Given the description of an element on the screen output the (x, y) to click on. 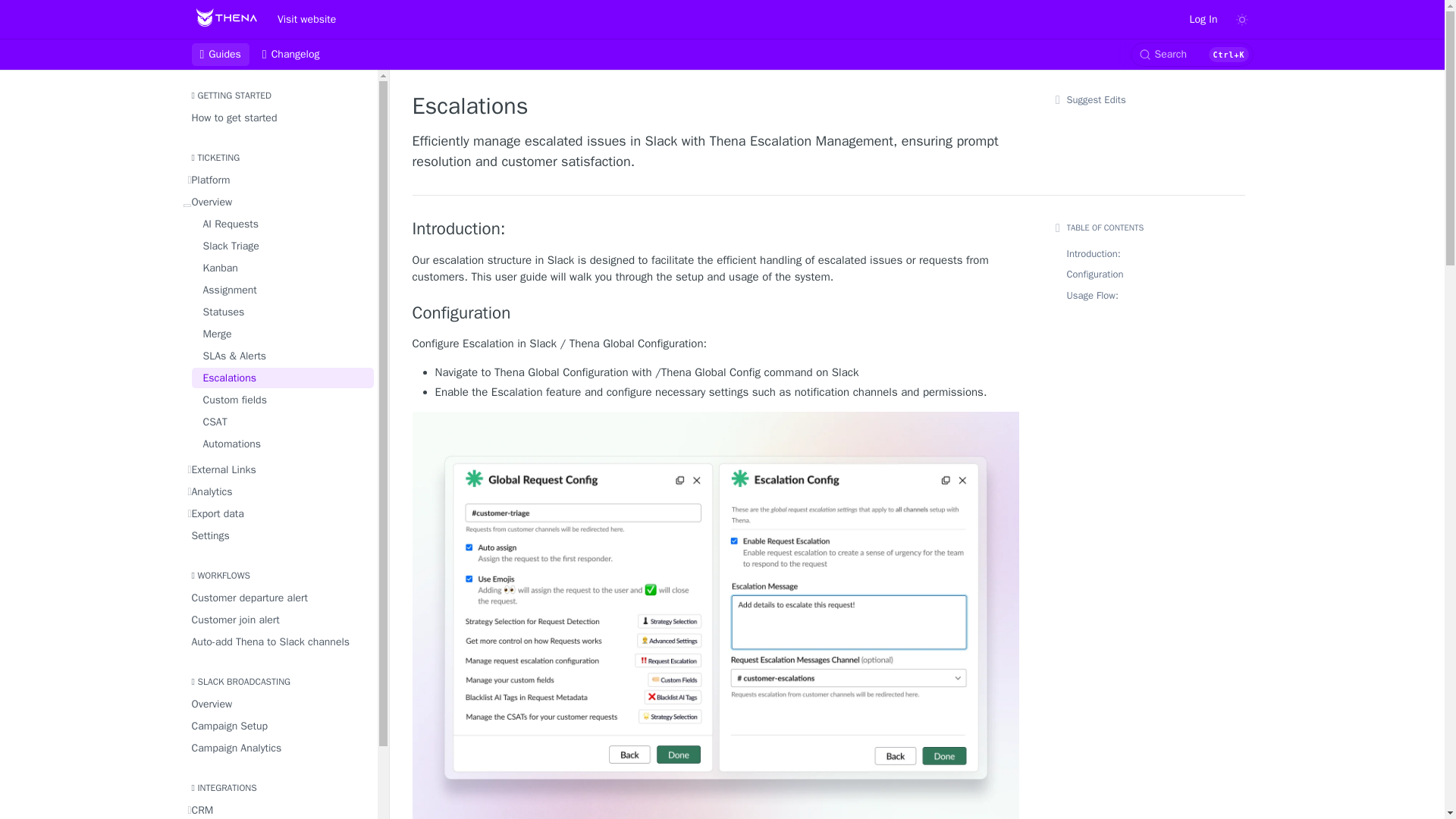
Kanban (281, 267)
CSAT (281, 421)
Assignment (281, 290)
External Links (277, 469)
Visit website (306, 18)
Analytics (277, 491)
AI Requests (281, 223)
Escalations (281, 377)
Overview (277, 201)
Automations (281, 444)
Custom fields (281, 399)
Configuration (715, 312)
Statuses (281, 312)
Platform (277, 179)
Slack Triage (281, 245)
